Given the description of an element on the screen output the (x, y) to click on. 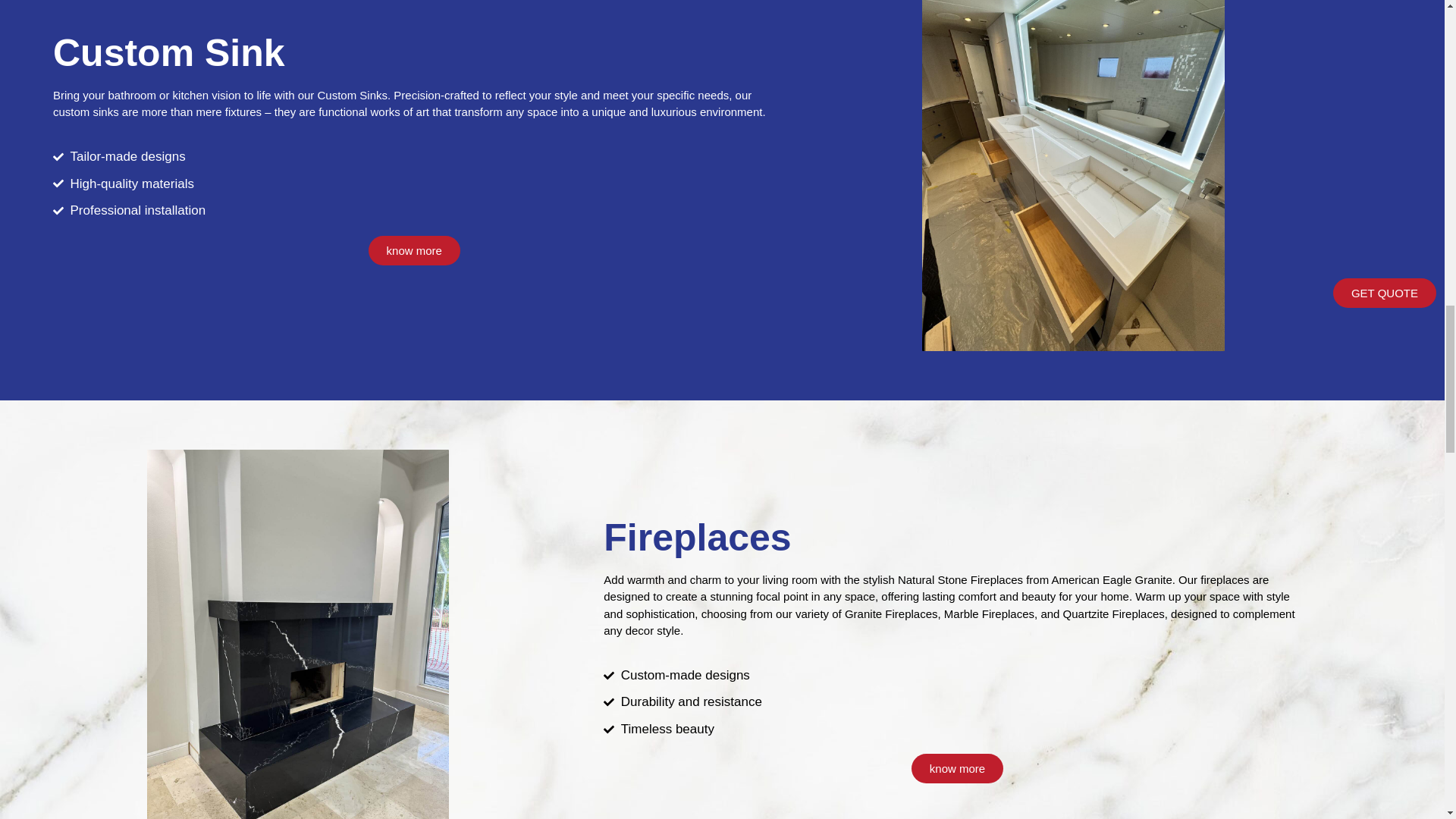
know more (414, 250)
know more (957, 767)
